Given the description of an element on the screen output the (x, y) to click on. 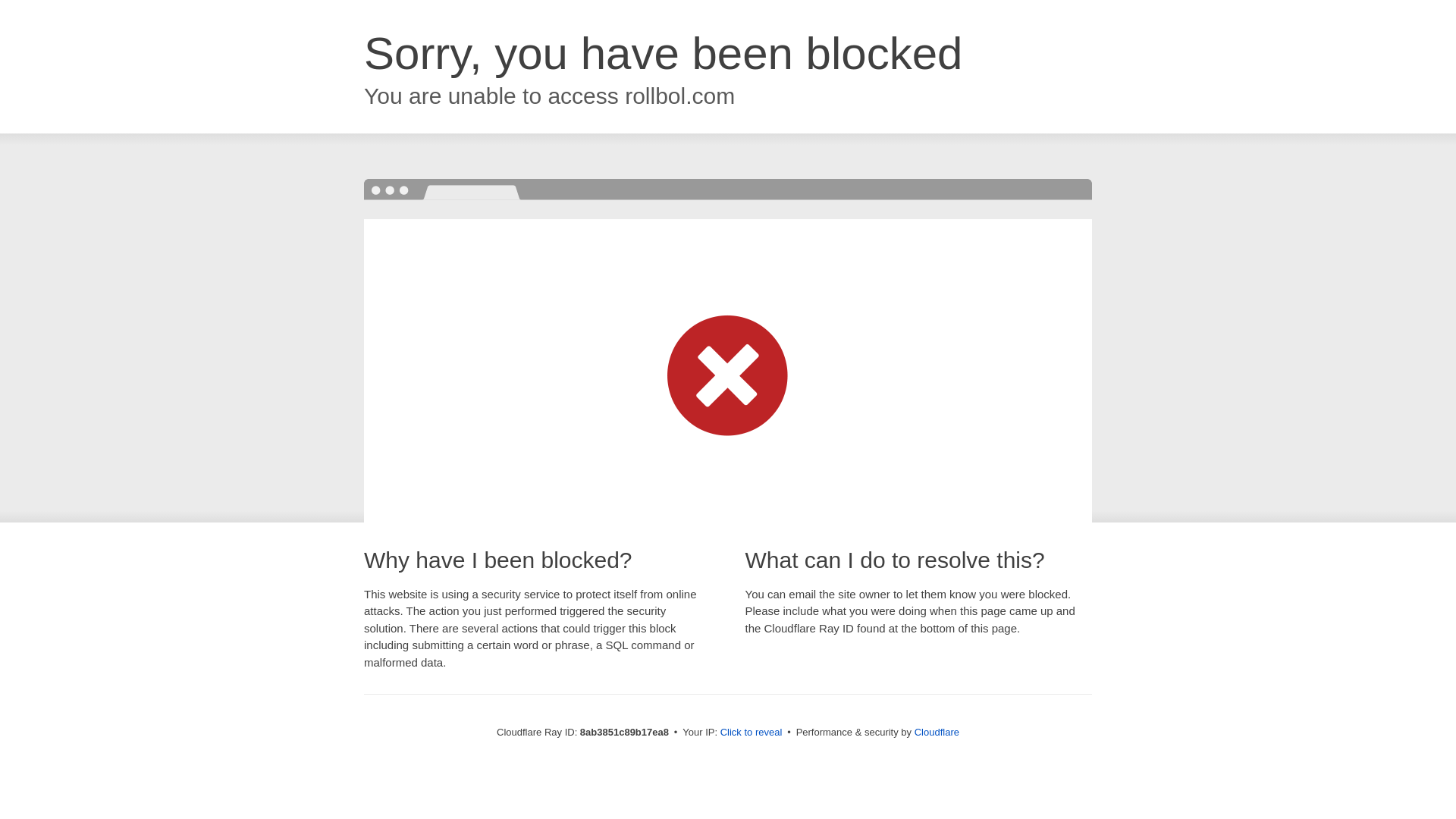
Click to reveal (751, 732)
Cloudflare (936, 731)
